Given the description of an element on the screen output the (x, y) to click on. 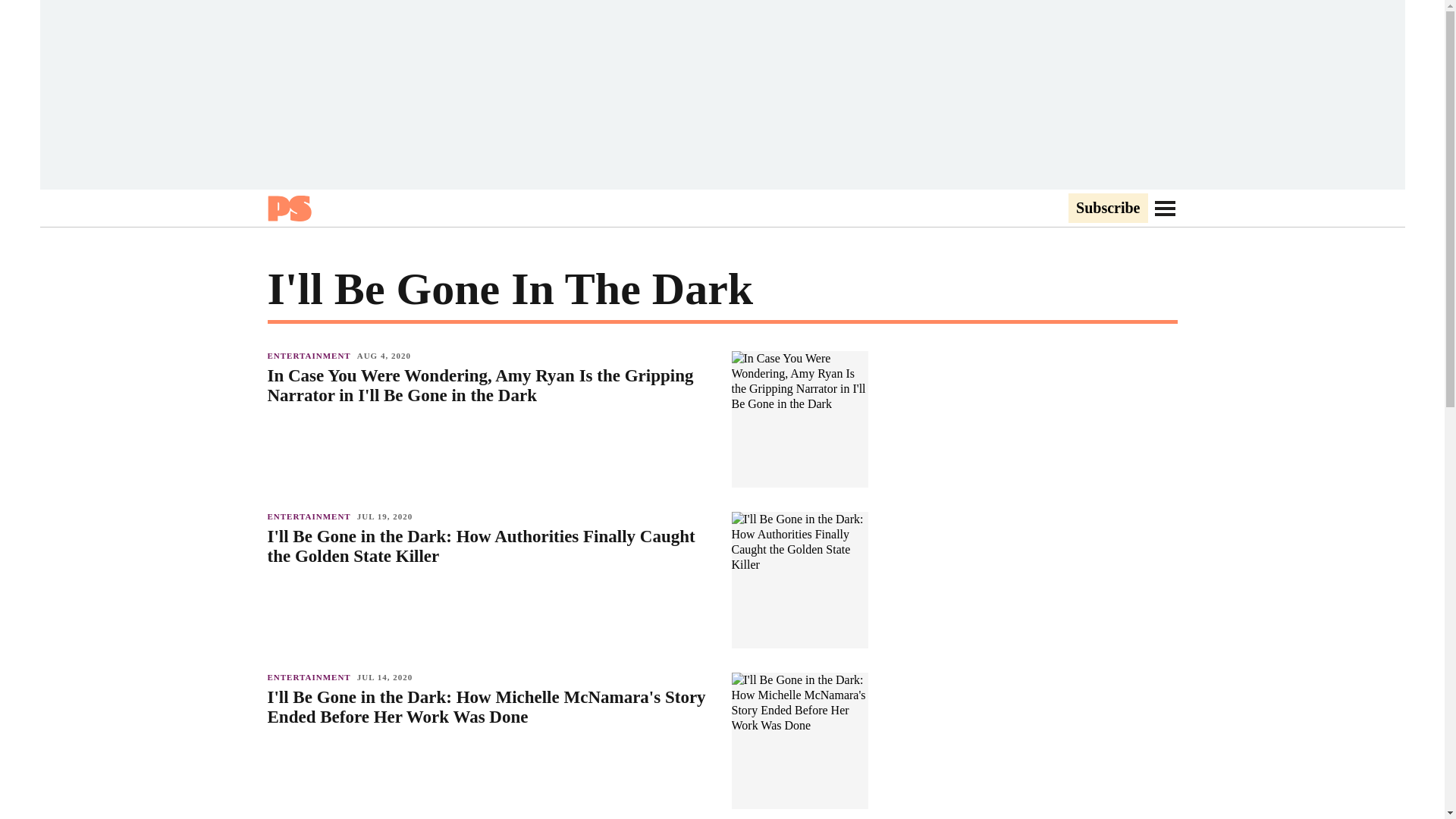
Popsugar (288, 208)
Go to Navigation (1164, 207)
ENTERTAINMENT (311, 355)
Go to Navigation (1164, 207)
ENTERTAINMENT (311, 515)
Subscribe (1107, 208)
ENTERTAINMENT (311, 676)
